Given the description of an element on the screen output the (x, y) to click on. 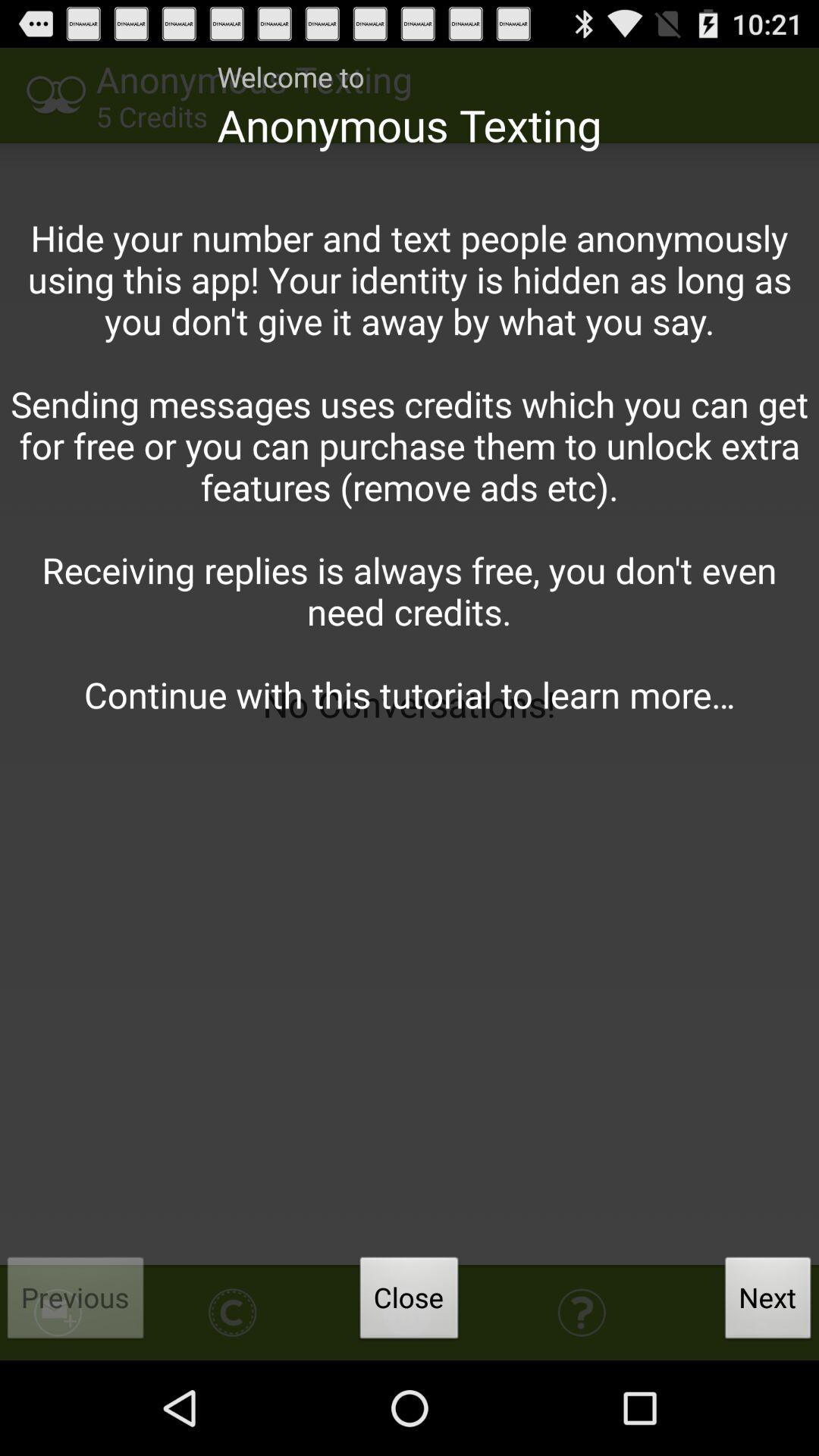
jump to previous button (75, 1302)
